Given the description of an element on the screen output the (x, y) to click on. 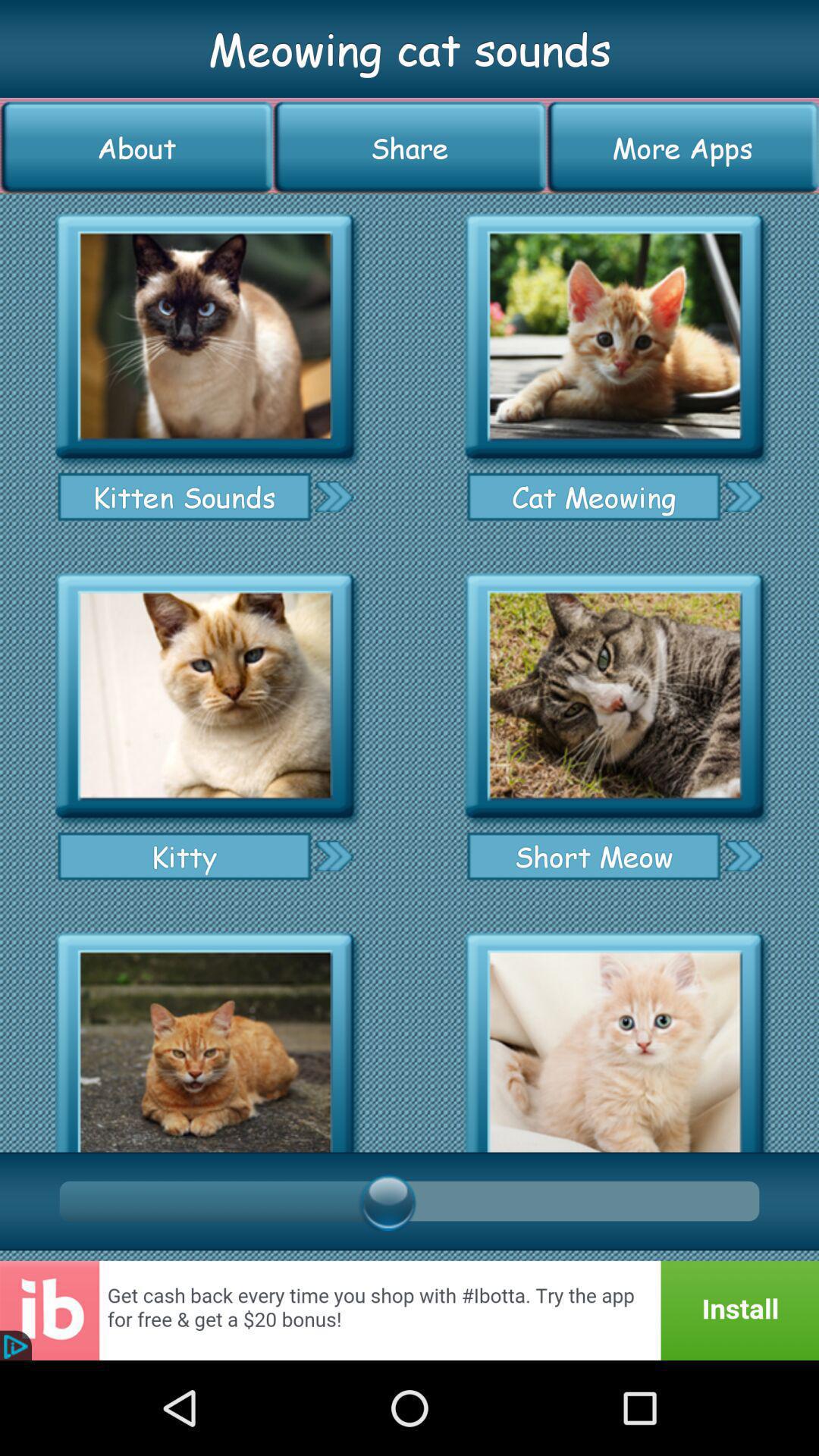
click meow image (204, 1037)
